Given the description of an element on the screen output the (x, y) to click on. 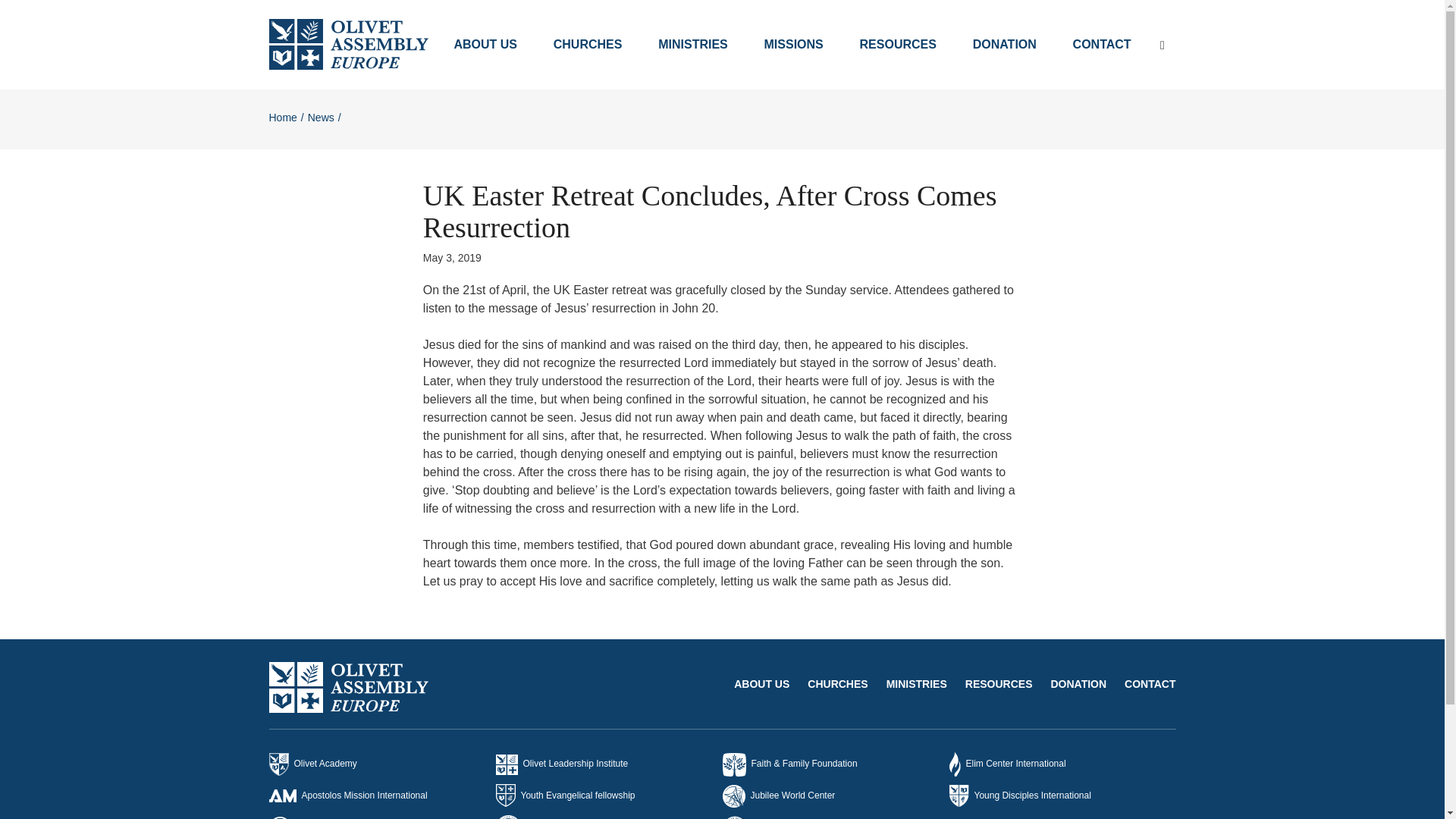
ABOUT US (484, 44)
Home (282, 117)
CHURCHES (587, 44)
MISSIONS (793, 44)
DONATION (1004, 44)
Home (282, 117)
CONTACT (1102, 44)
RESOURCES (898, 44)
MINISTRIES (692, 44)
News (320, 117)
